Given the description of an element on the screen output the (x, y) to click on. 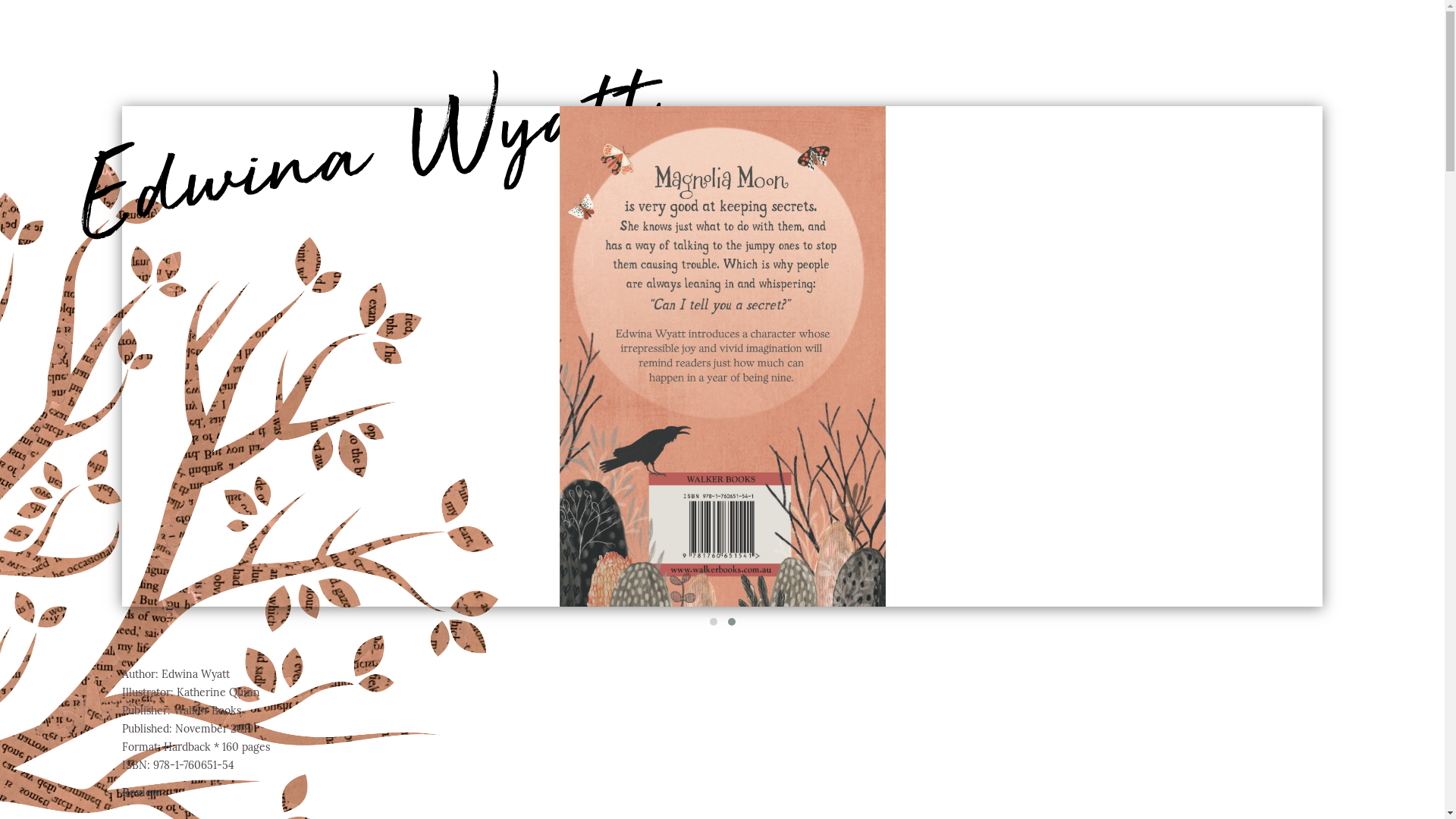
Edwina Wyatt Element type: text (360, 96)
